Given the description of an element on the screen output the (x, y) to click on. 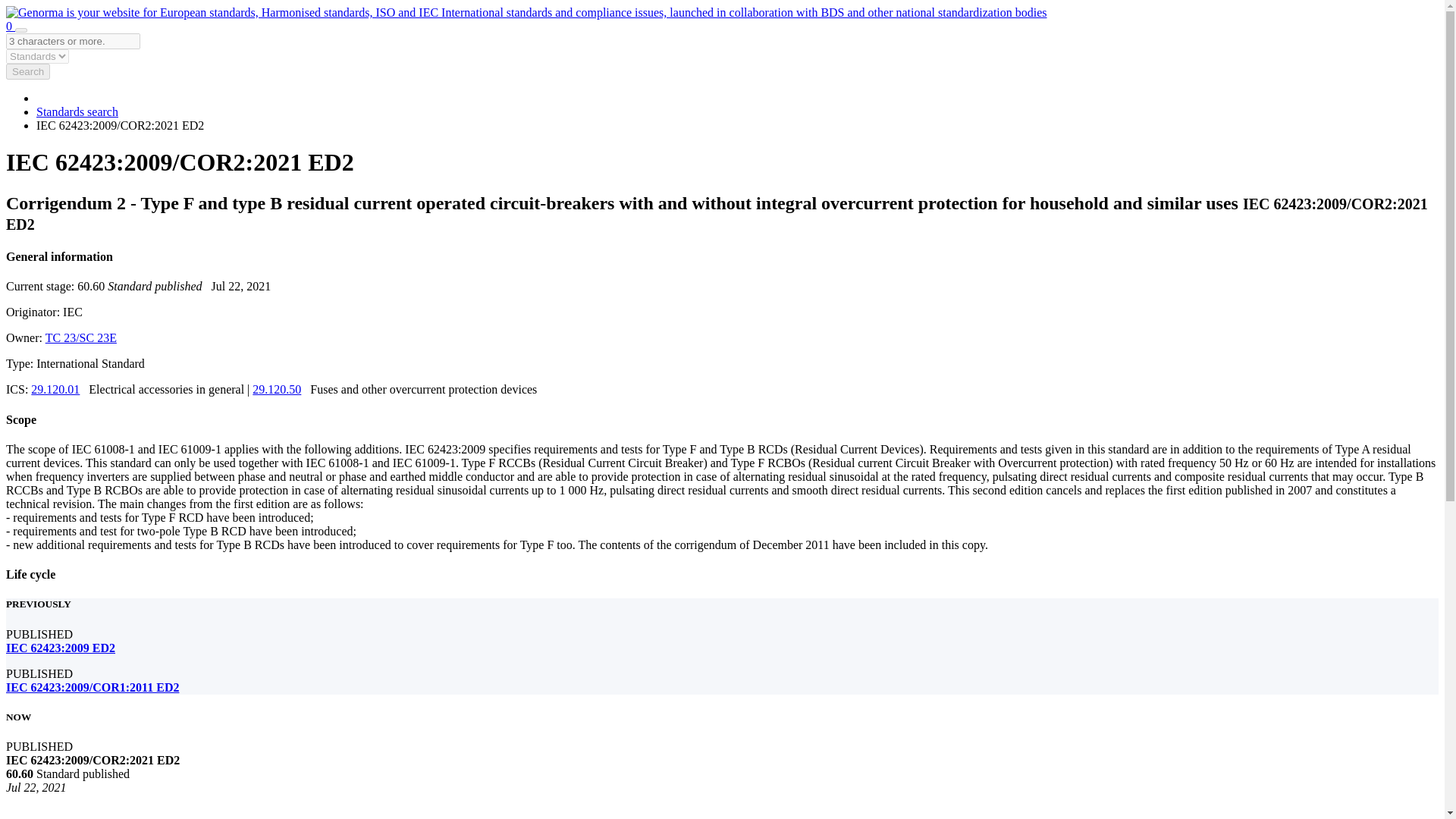
Search (27, 71)
Standards search (76, 111)
Standard published (90, 286)
IEC 62423:2009 ED2 (60, 647)
Effective date (240, 286)
Search (20, 29)
Search (20, 29)
29.120.01 (55, 389)
29.120.50 (276, 389)
